Given the description of an element on the screen output the (x, y) to click on. 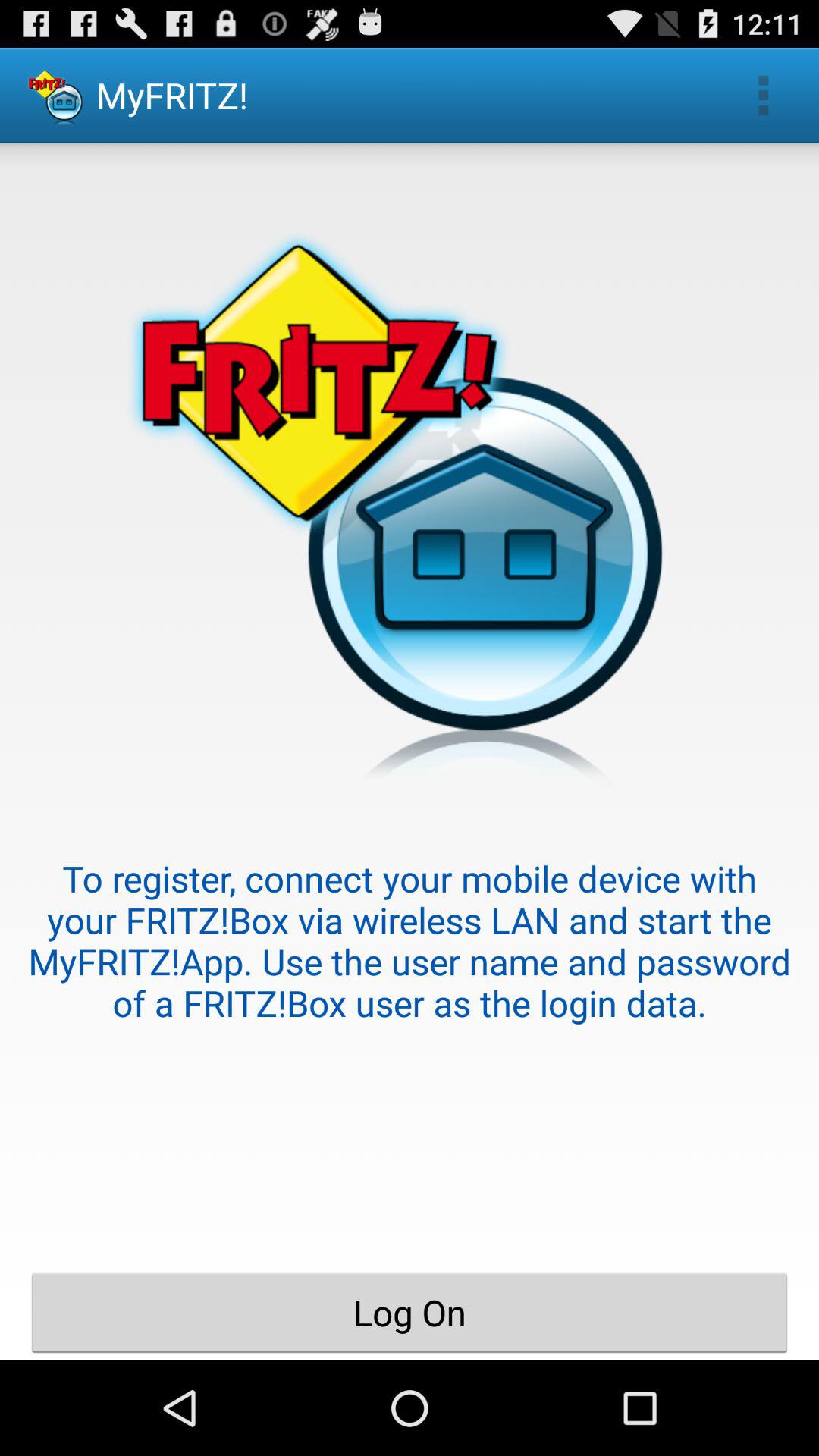
select app below to register connect (409, 1312)
